Given the description of an element on the screen output the (x, y) to click on. 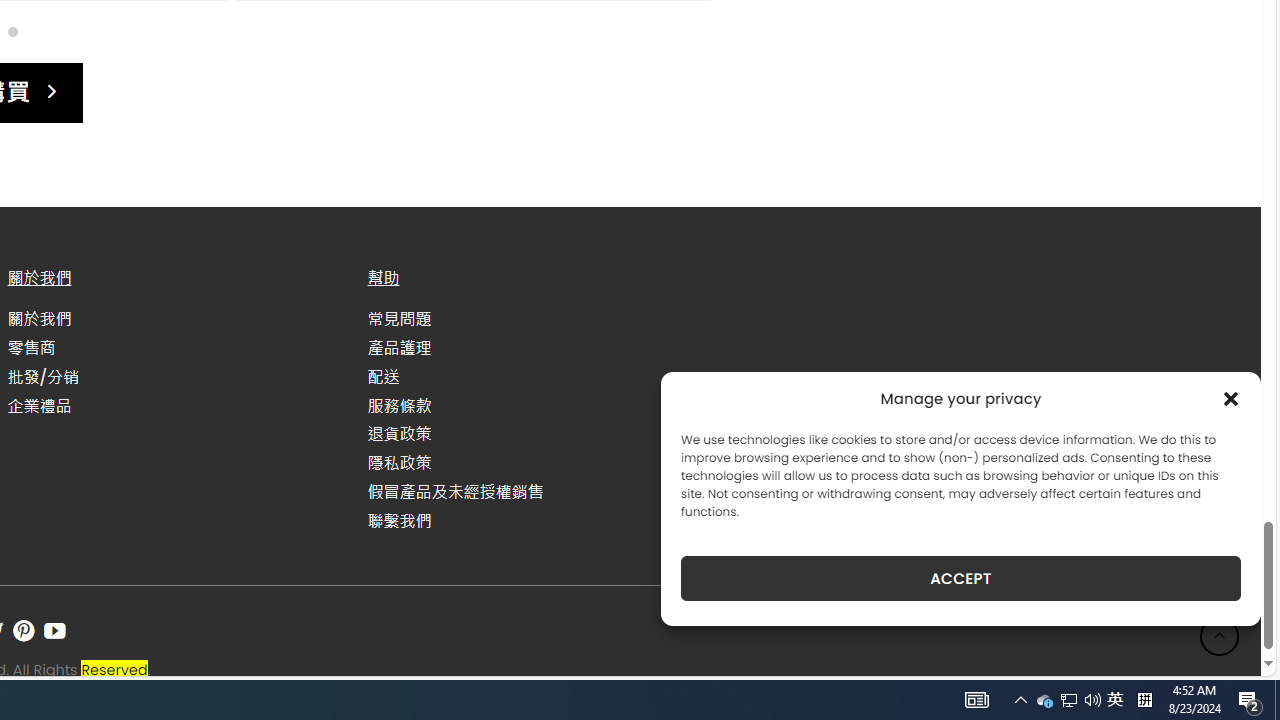
Follow on Pinterest (23, 631)
Go to top (1220, 636)
Page dot 3 (11, 30)
ACCEPT (960, 578)
Follow on YouTube (54, 631)
